Given the description of an element on the screen output the (x, y) to click on. 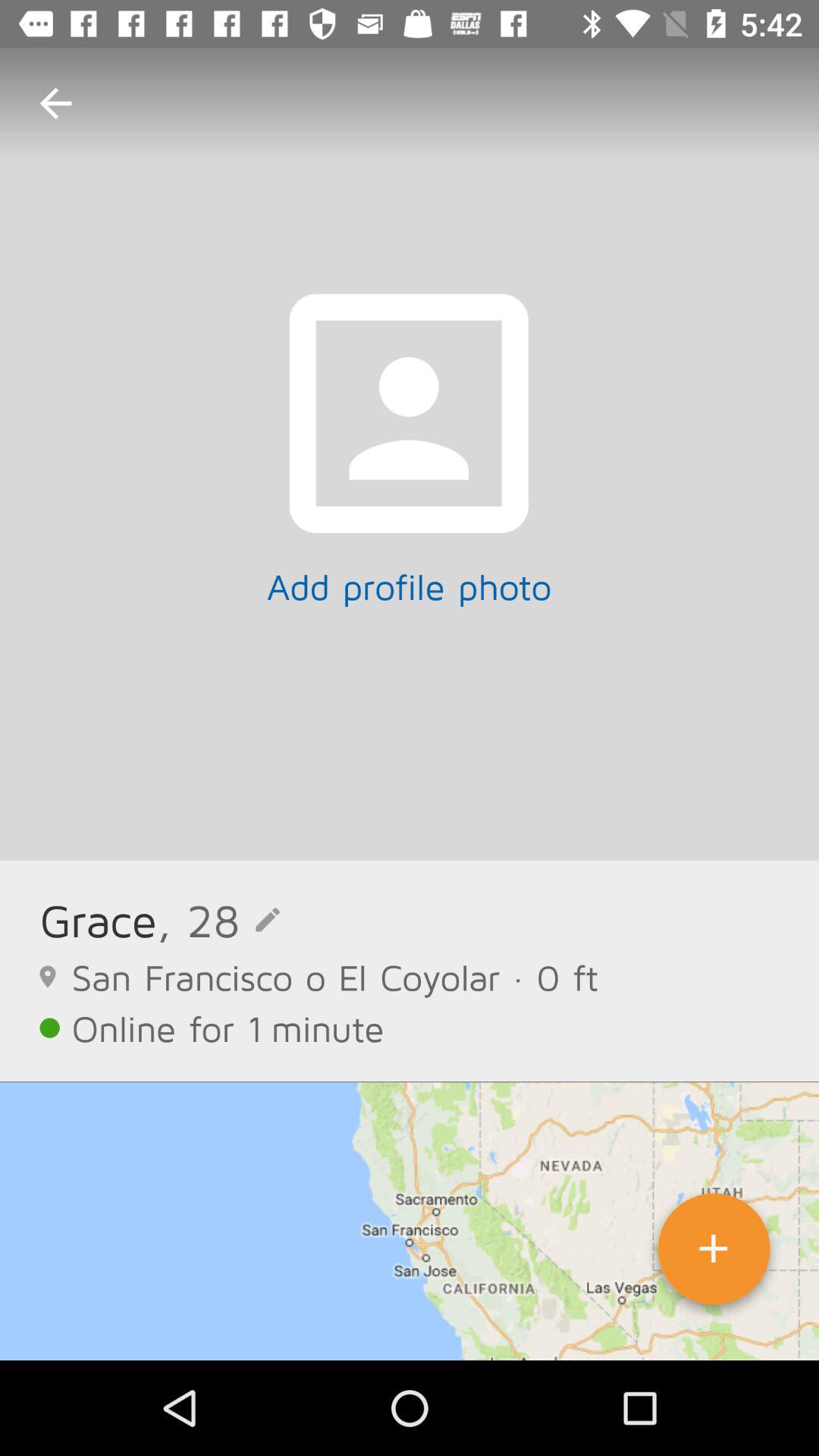
select the item to the right of grace (217, 919)
